Given the description of an element on the screen output the (x, y) to click on. 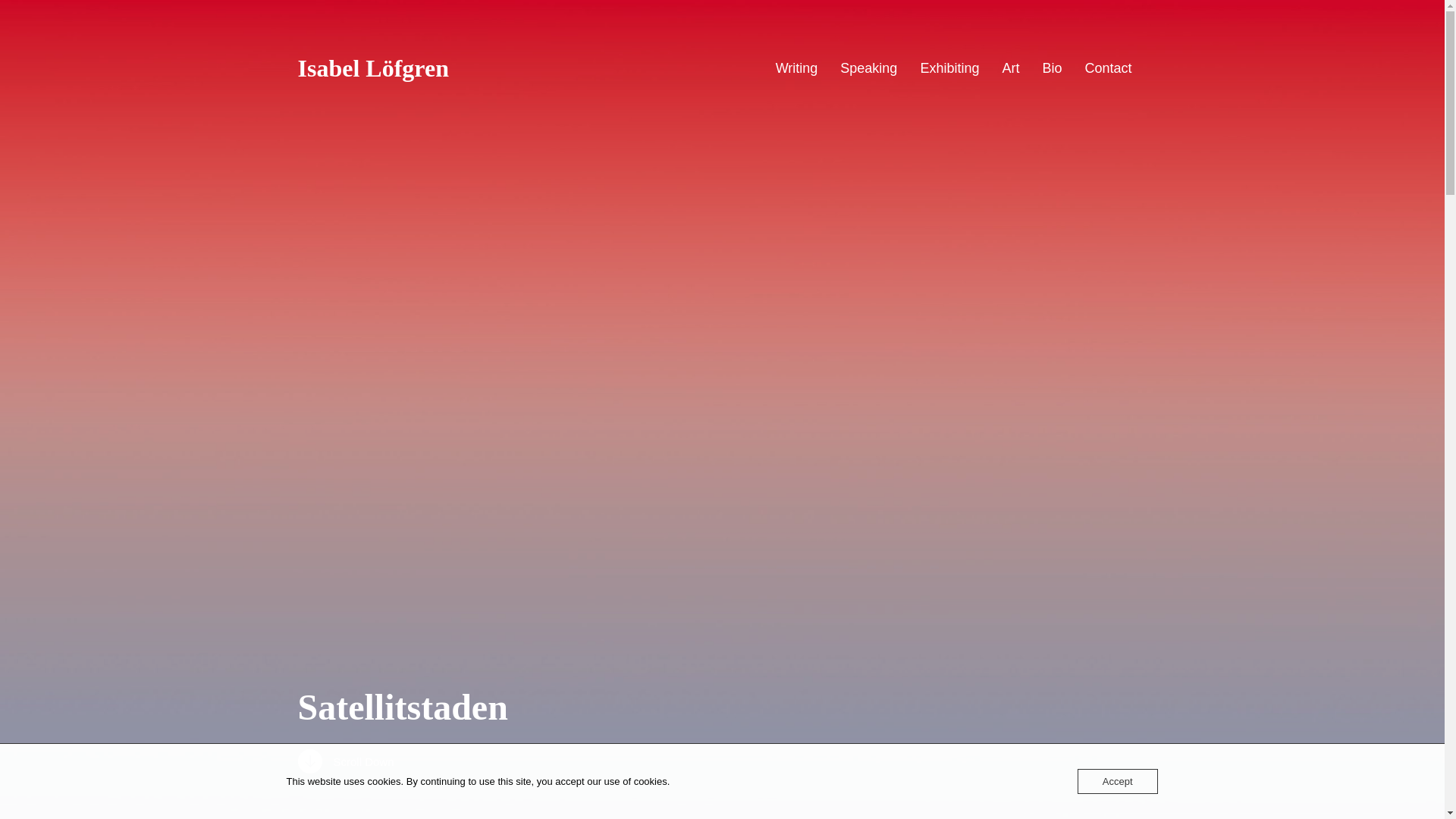
Contact (1107, 68)
Speaking (868, 68)
Bio (1051, 68)
Art (1010, 68)
Scroll Down (722, 761)
Writing (797, 68)
Exhibiting (949, 68)
